Given the description of an element on the screen output the (x, y) to click on. 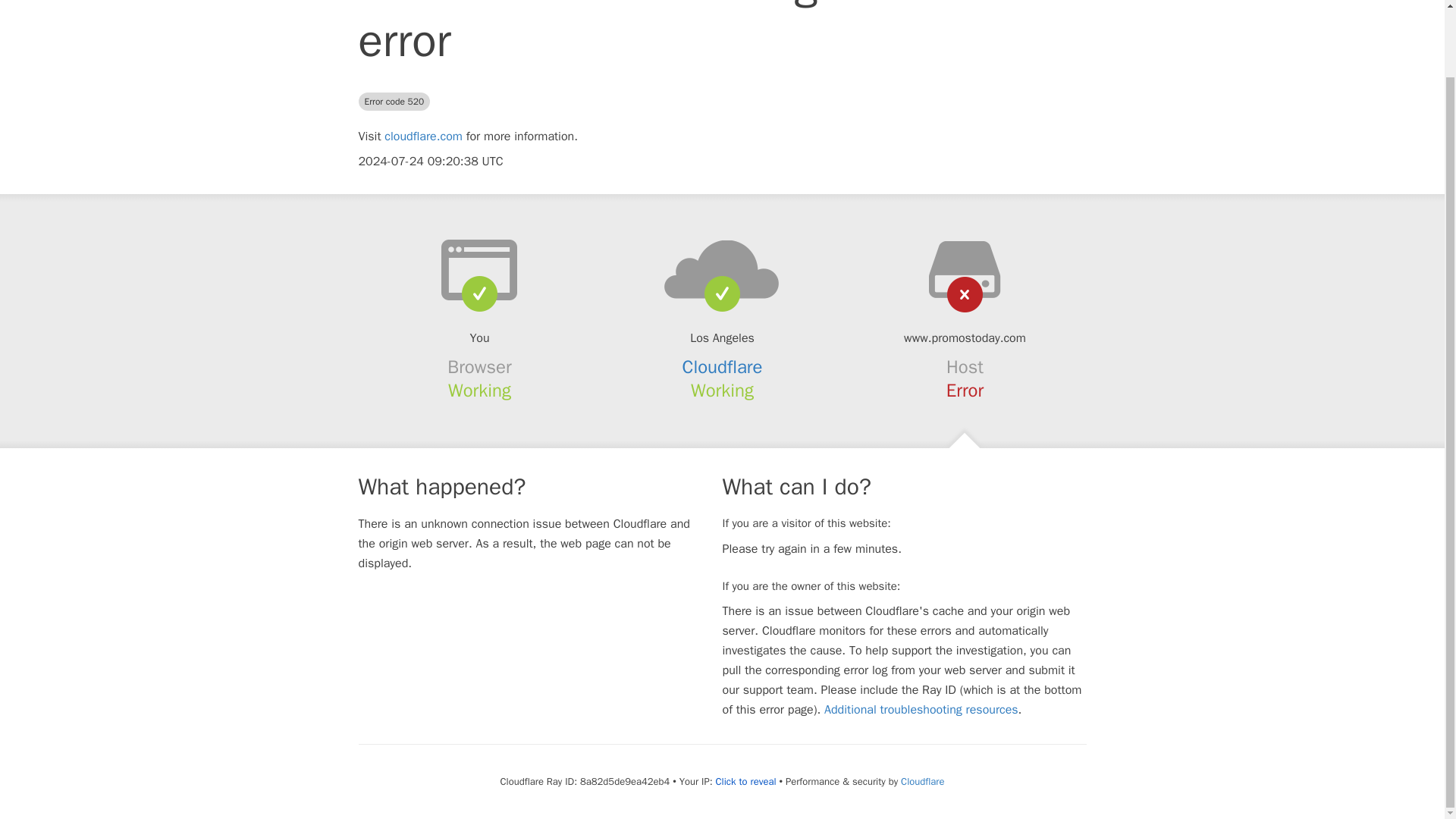
Cloudflare (922, 780)
Cloudflare (722, 366)
cloudflare.com (423, 136)
Additional troubleshooting resources (920, 709)
Click to reveal (746, 781)
